Given the description of an element on the screen output the (x, y) to click on. 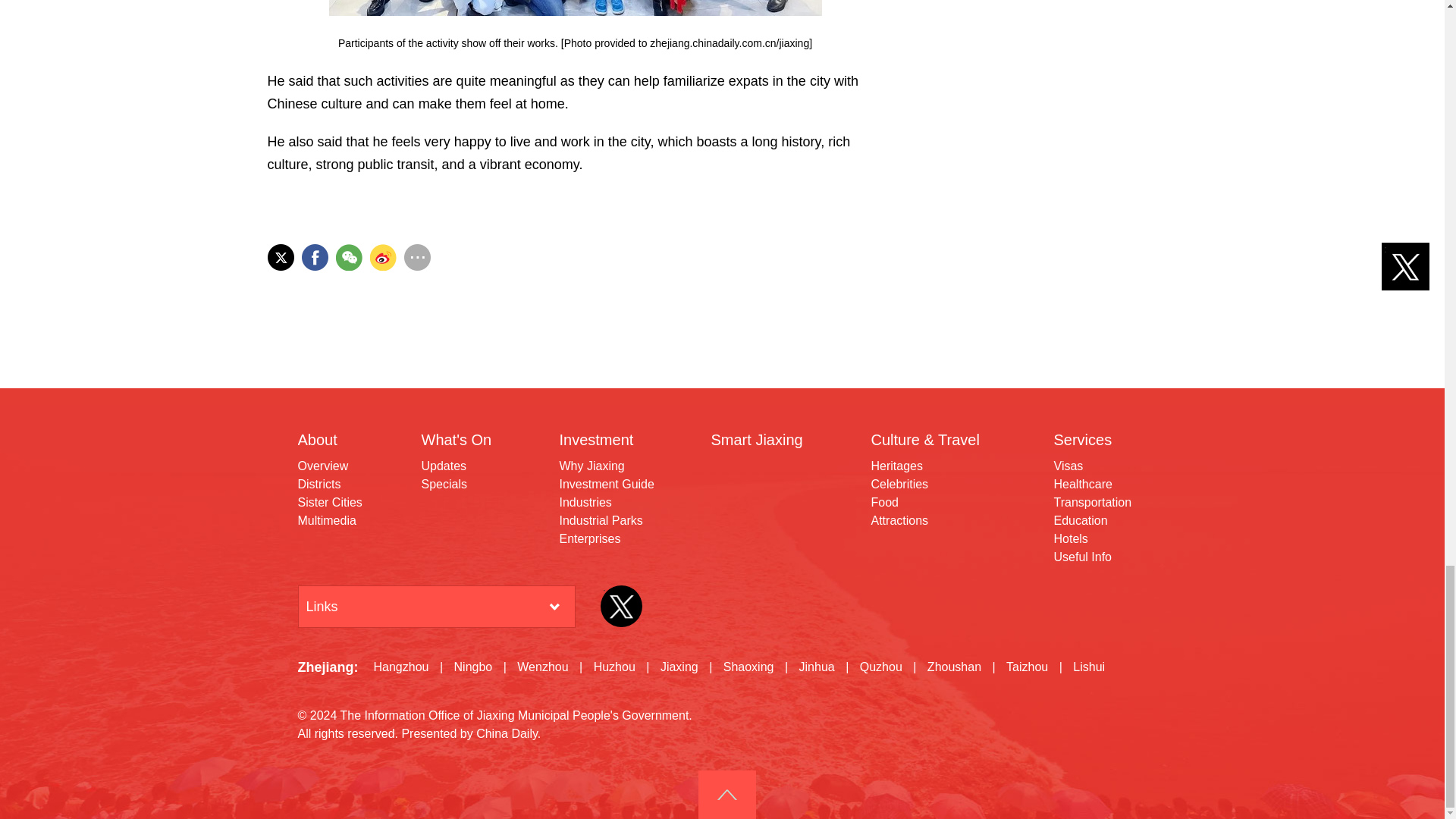
1673847938003056221.jpg (575, 7)
